Given the description of an element on the screen output the (x, y) to click on. 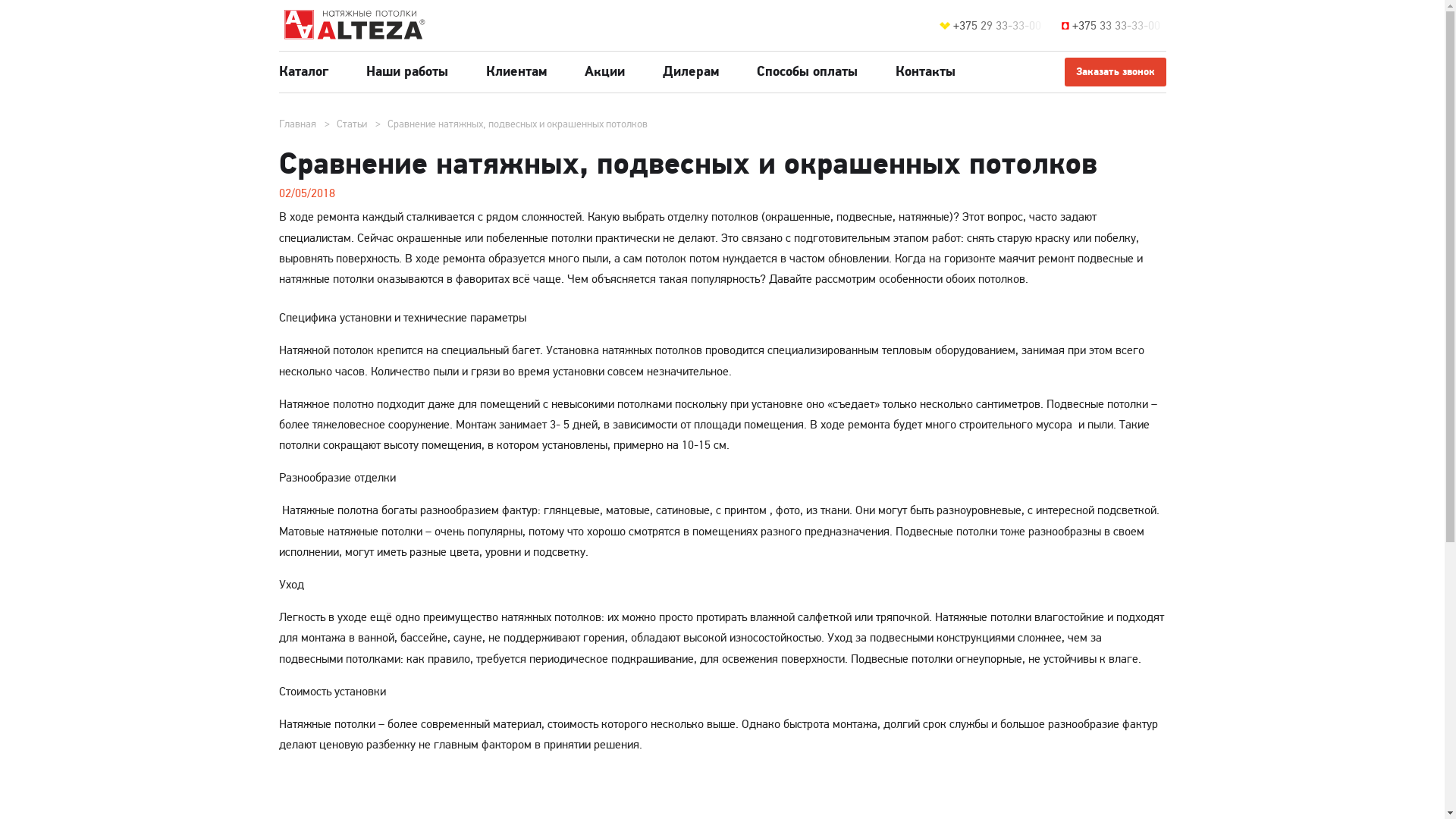
+375 33 33-33-00 Element type: text (1119, 25)
+375 29 33-33-00 Element type: text (999, 25)
